Given the description of an element on the screen output the (x, y) to click on. 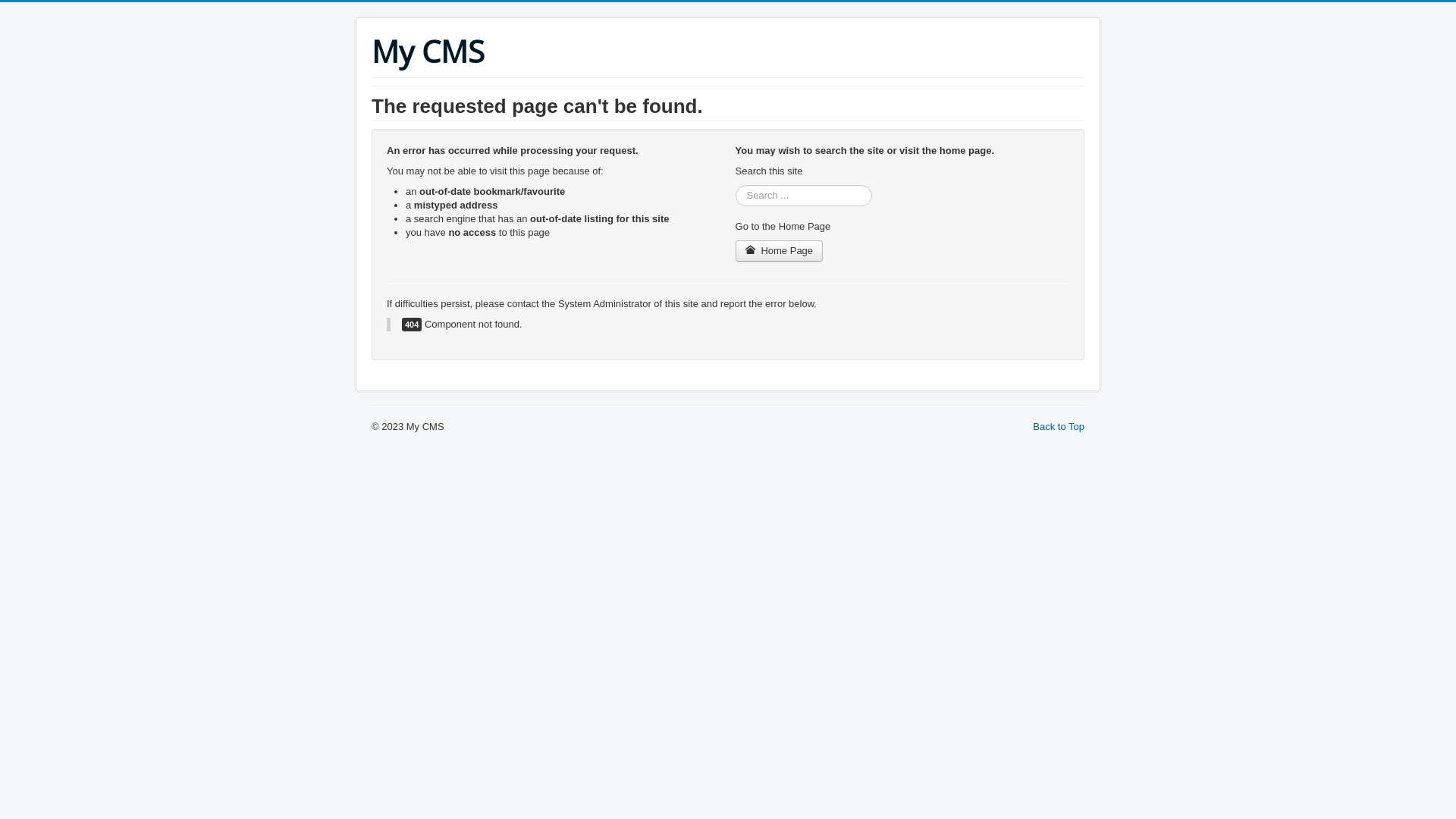
Back to Top Element type: text (1058, 426)
My CMS Element type: text (427, 51)
Home Page Element type: text (779, 250)
